Given the description of an element on the screen output the (x, y) to click on. 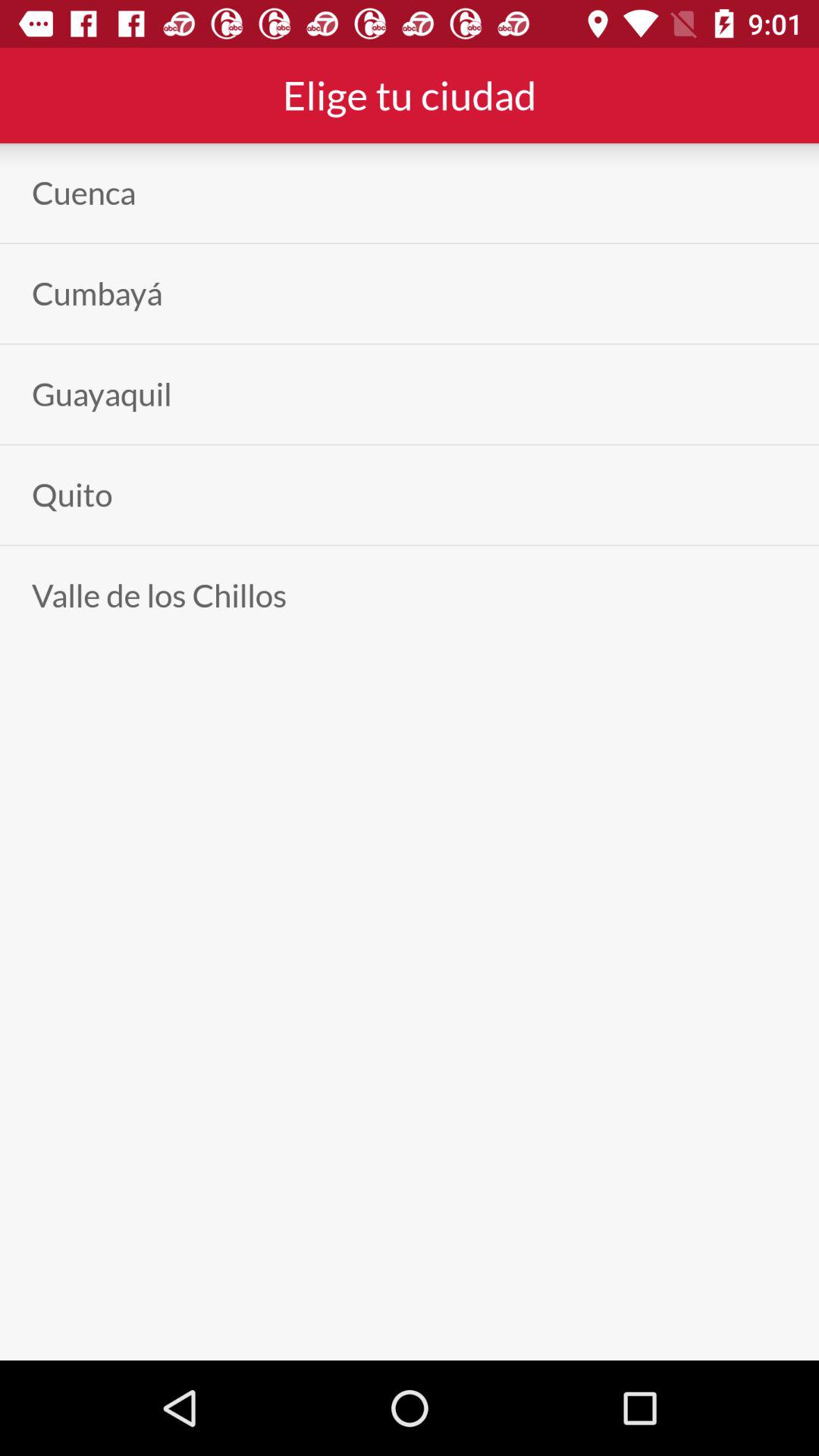
turn off the guayaquil app (101, 394)
